Given the description of an element on the screen output the (x, y) to click on. 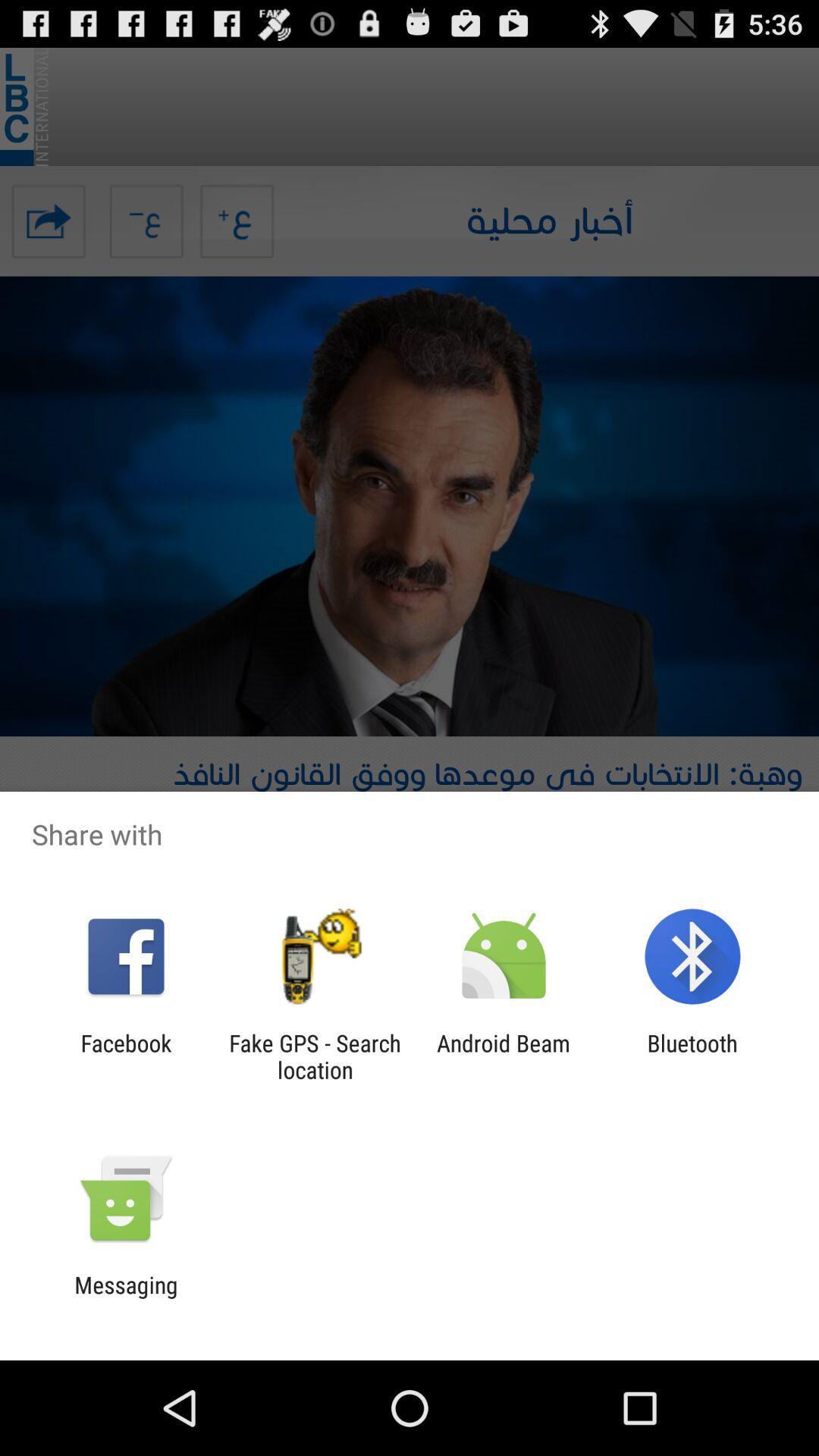
select the facebook item (125, 1056)
